Given the description of an element on the screen output the (x, y) to click on. 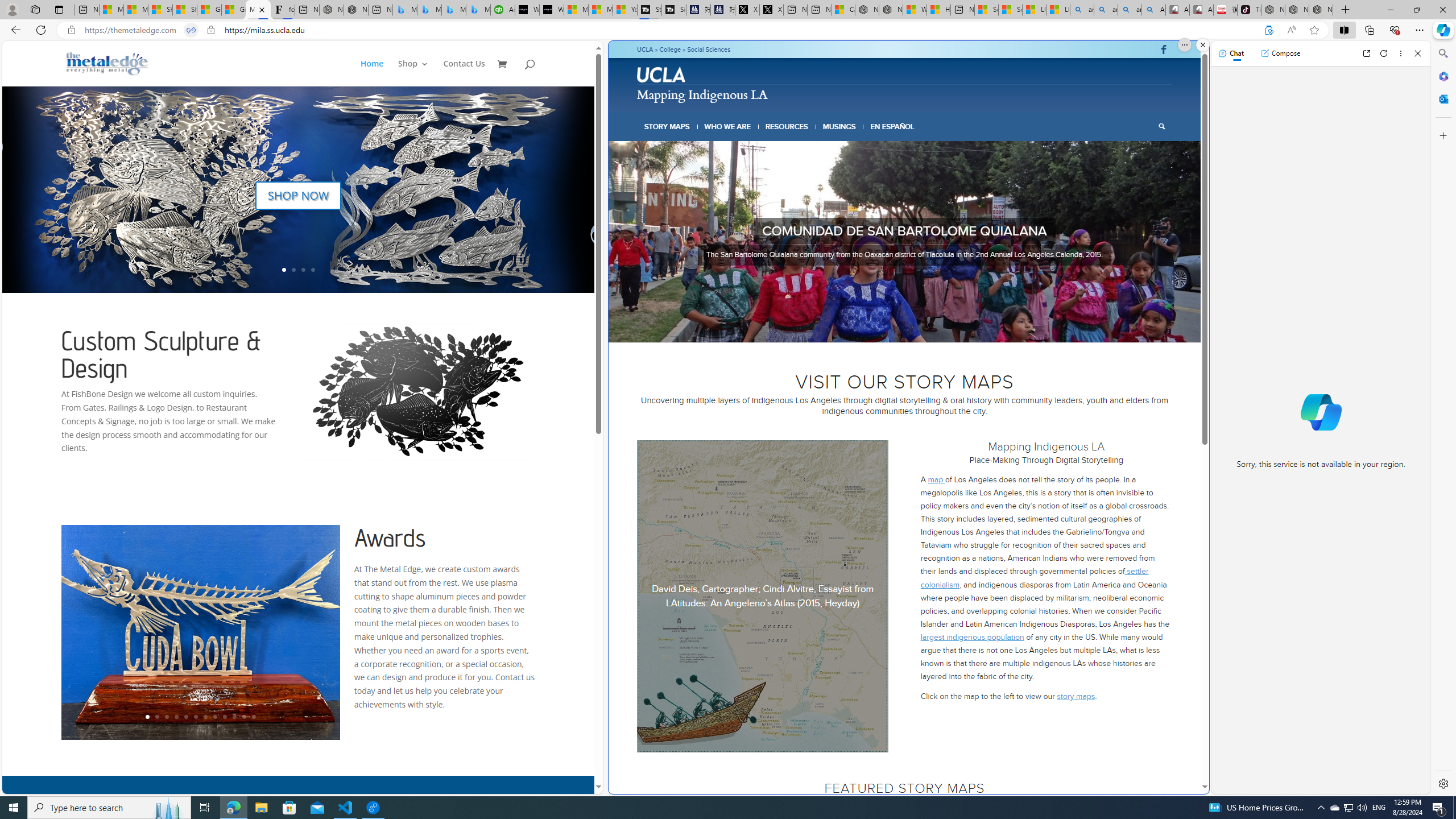
largest indigenous population (972, 636)
4 (899, 328)
12 (253, 716)
Nordace - Siena Pro 15 Essential Set (1321, 9)
